Given the description of an element on the screen output the (x, y) to click on. 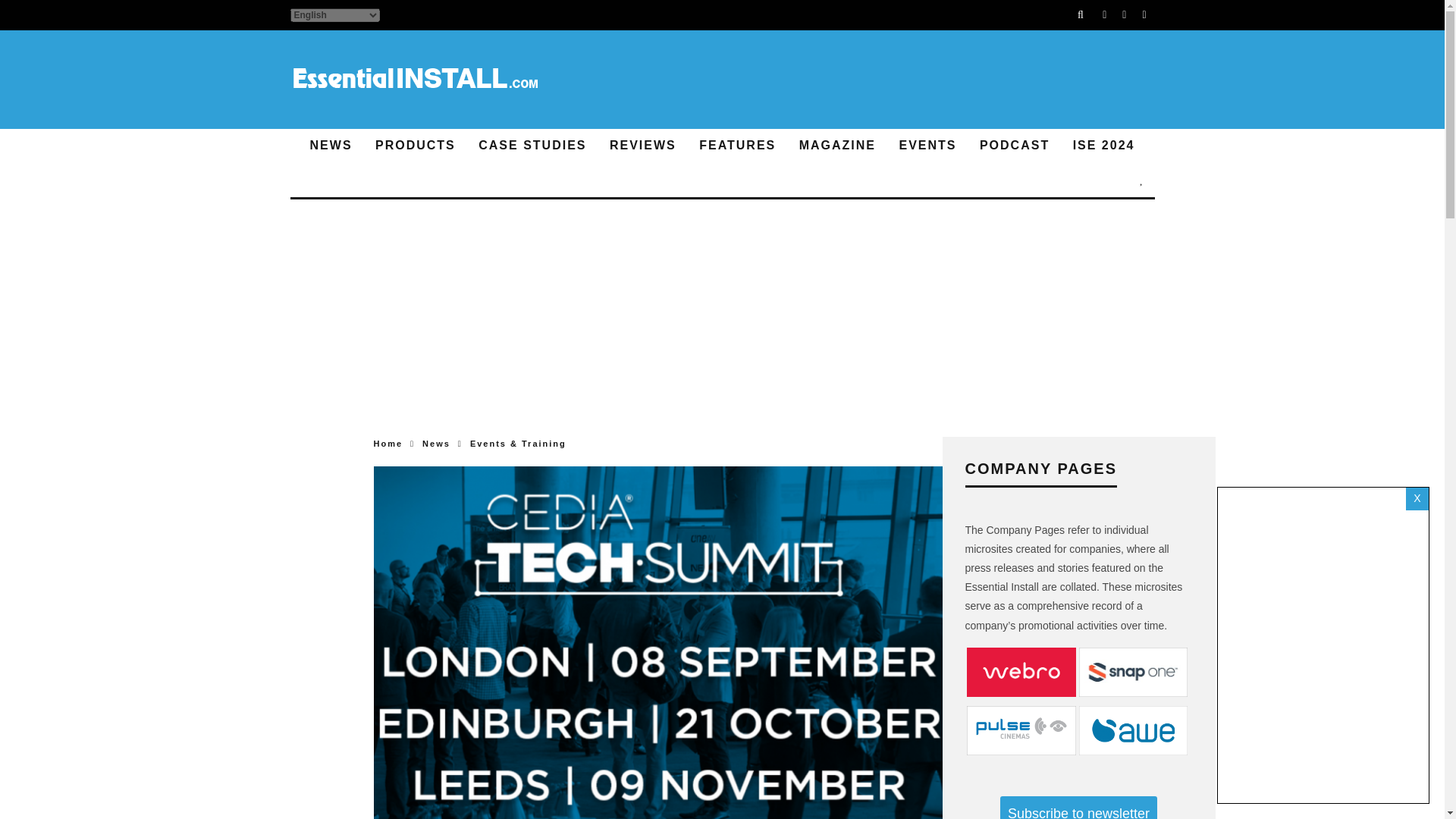
3rd party ad content (721, 357)
MAGAZINE (837, 145)
NEWS (331, 145)
3rd party ad content (878, 79)
FEATURES (737, 145)
CASE STUDIES (531, 145)
View all posts in News (435, 442)
PRODUCTS (415, 145)
REVIEWS (642, 145)
Log In (721, 409)
PODCAST (1014, 145)
EVENTS (927, 145)
3rd party ad content (721, 255)
